Given the description of an element on the screen output the (x, y) to click on. 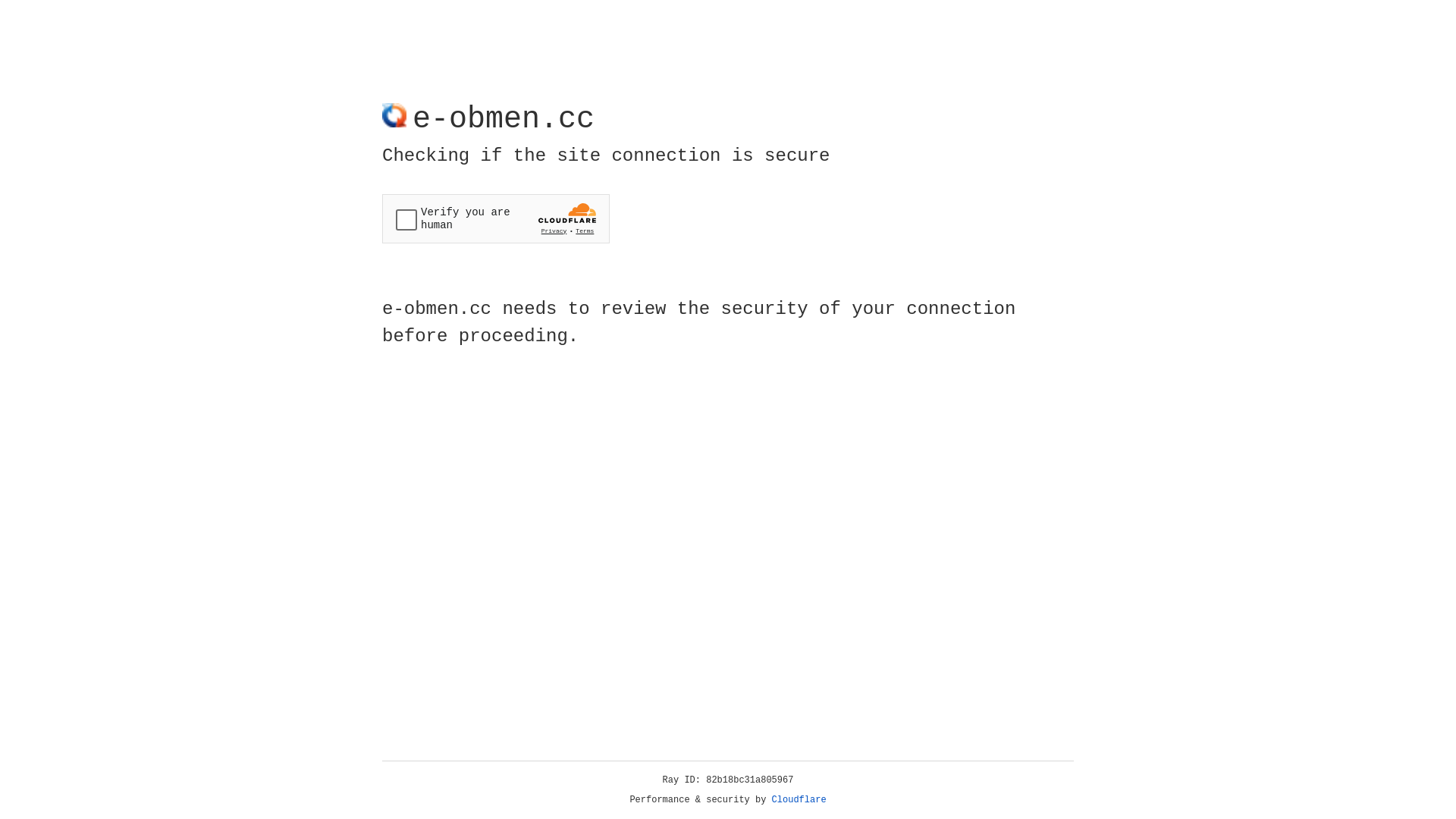
Cloudflare Element type: text (798, 799)
Widget containing a Cloudflare security challenge Element type: hover (495, 218)
